Given the description of an element on the screen output the (x, y) to click on. 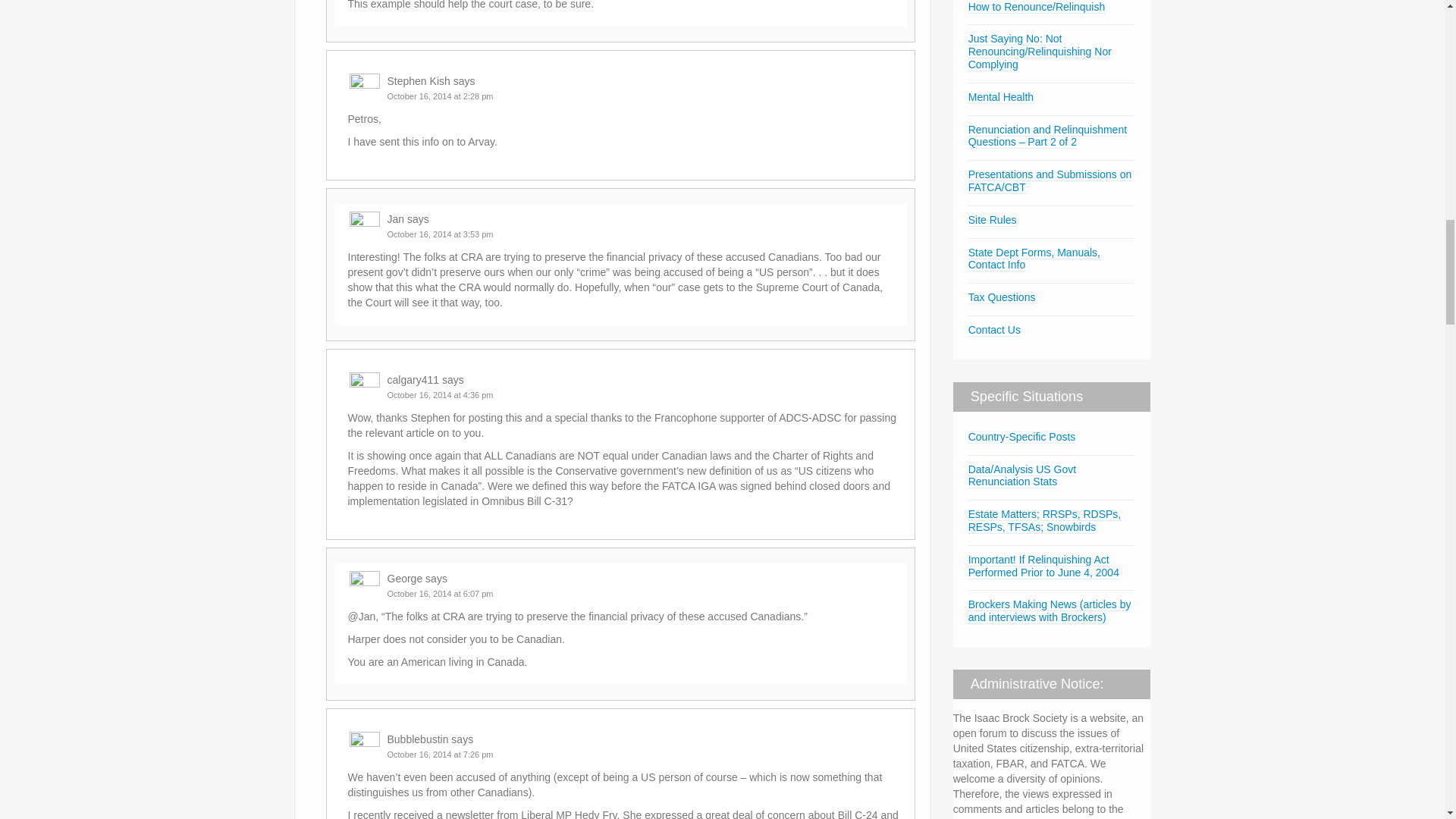
October 16, 2014 at 3:53 pm (440, 234)
October 16, 2014 at 7:26 pm (440, 754)
October 16, 2014 at 2:28 pm (440, 95)
October 16, 2014 at 4:36 pm (440, 394)
October 16, 2014 at 6:07 pm (440, 593)
